Given the description of an element on the screen output the (x, y) to click on. 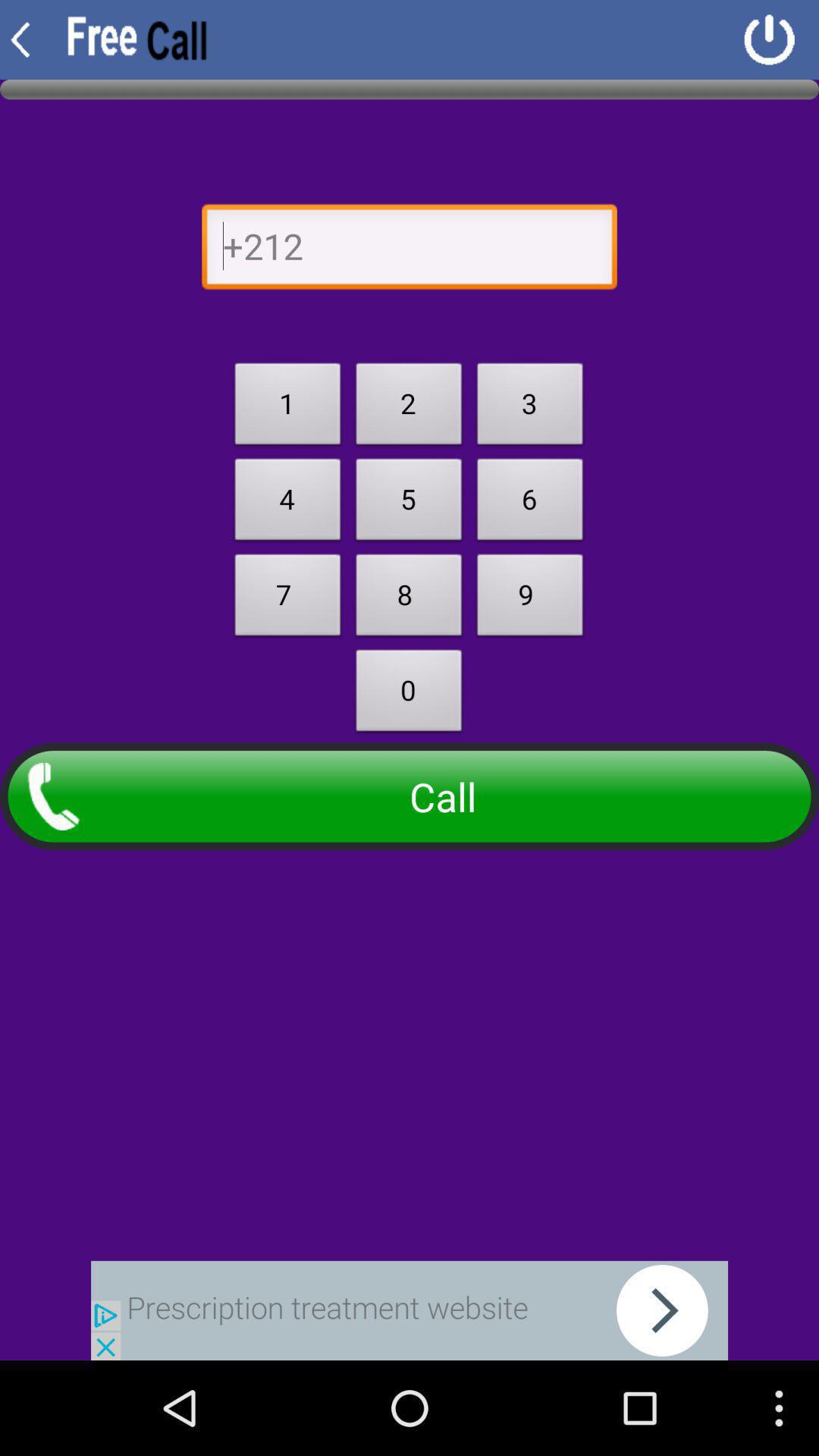
phone call option (409, 250)
